Given the description of an element on the screen output the (x, y) to click on. 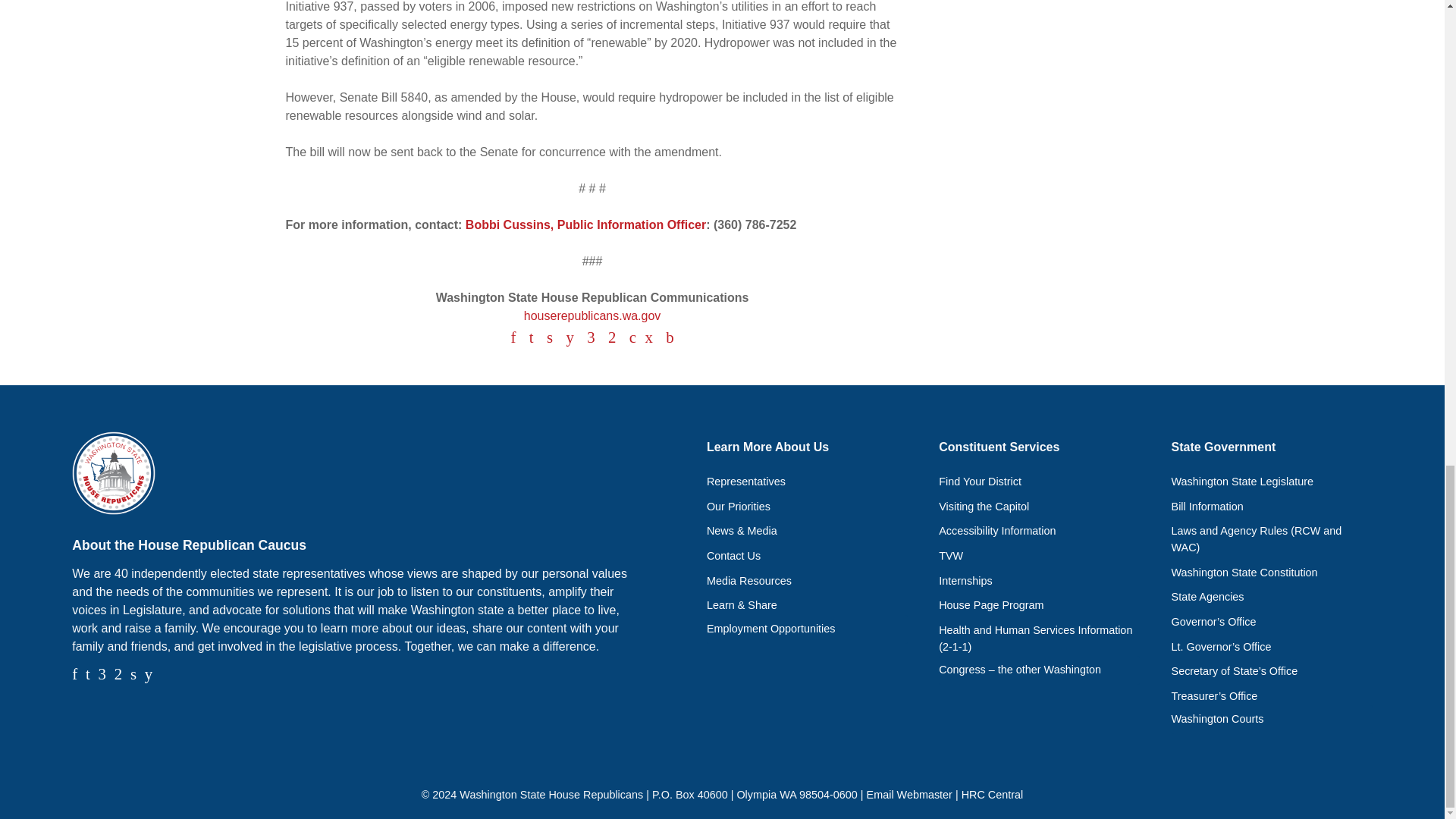
Bobbi Cussins, Public Information Officer (585, 224)
houserepublicans.wa.gov (592, 315)
